Given the description of an element on the screen output the (x, y) to click on. 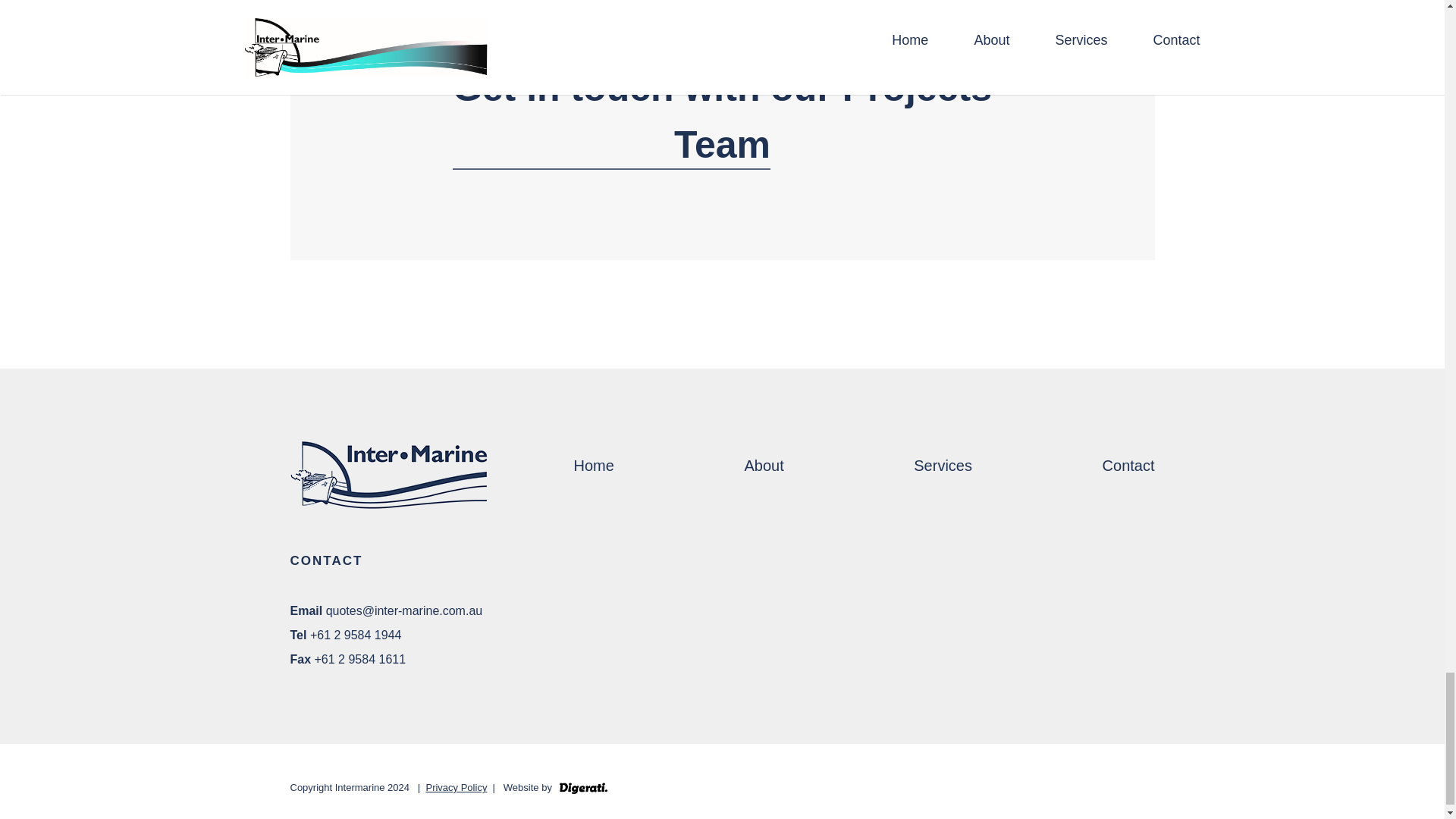
Contact (1128, 465)
Services (943, 465)
About (763, 465)
Get in touch with our Projects Team (721, 116)
Home (592, 465)
Privacy Policy (455, 787)
